Given the description of an element on the screen output the (x, y) to click on. 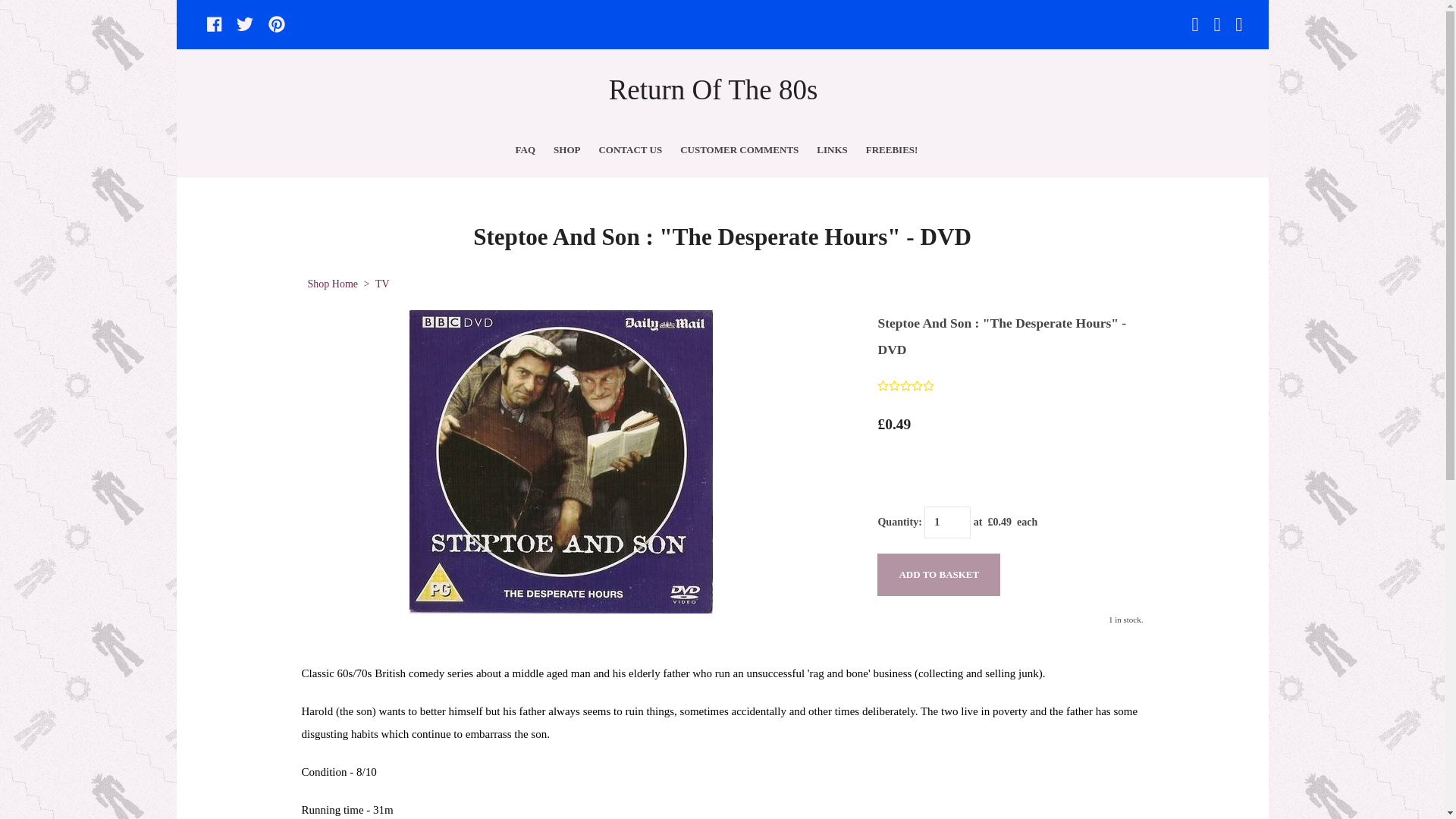
Return Of The 80s (721, 97)
FAQ (525, 150)
CONTACT US (630, 150)
TV (382, 283)
SHOP (566, 150)
pinterest (276, 23)
CUSTOMER COMMENTS (739, 150)
LINKS (832, 150)
twitter (244, 23)
1 (947, 522)
Return Of The 80s (721, 96)
FREEBIES! (892, 150)
Shop Home (332, 283)
twitter (244, 23)
pinterest (276, 23)
